Given the description of an element on the screen output the (x, y) to click on. 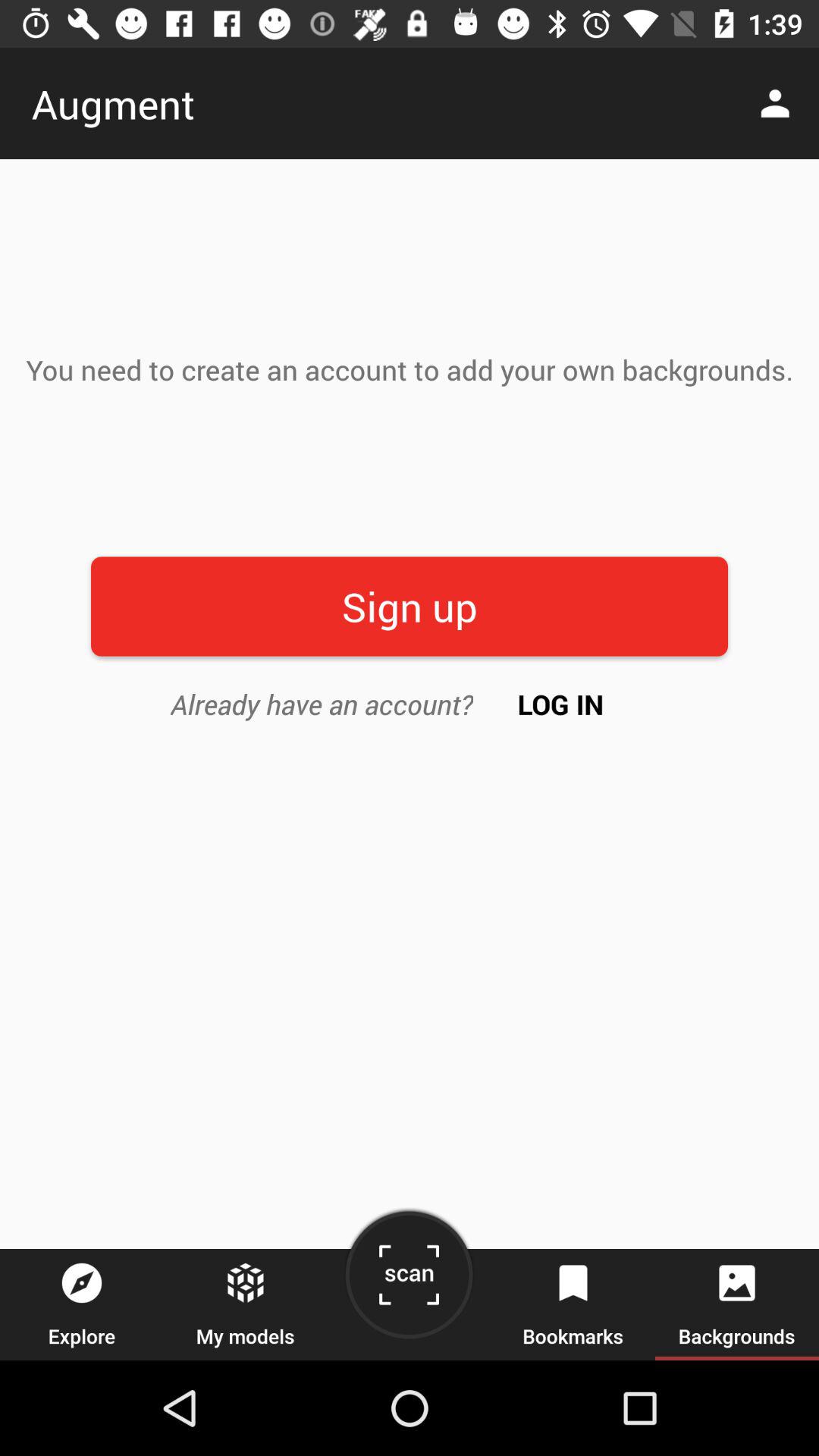
jump until log in item (560, 703)
